Given the description of an element on the screen output the (x, y) to click on. 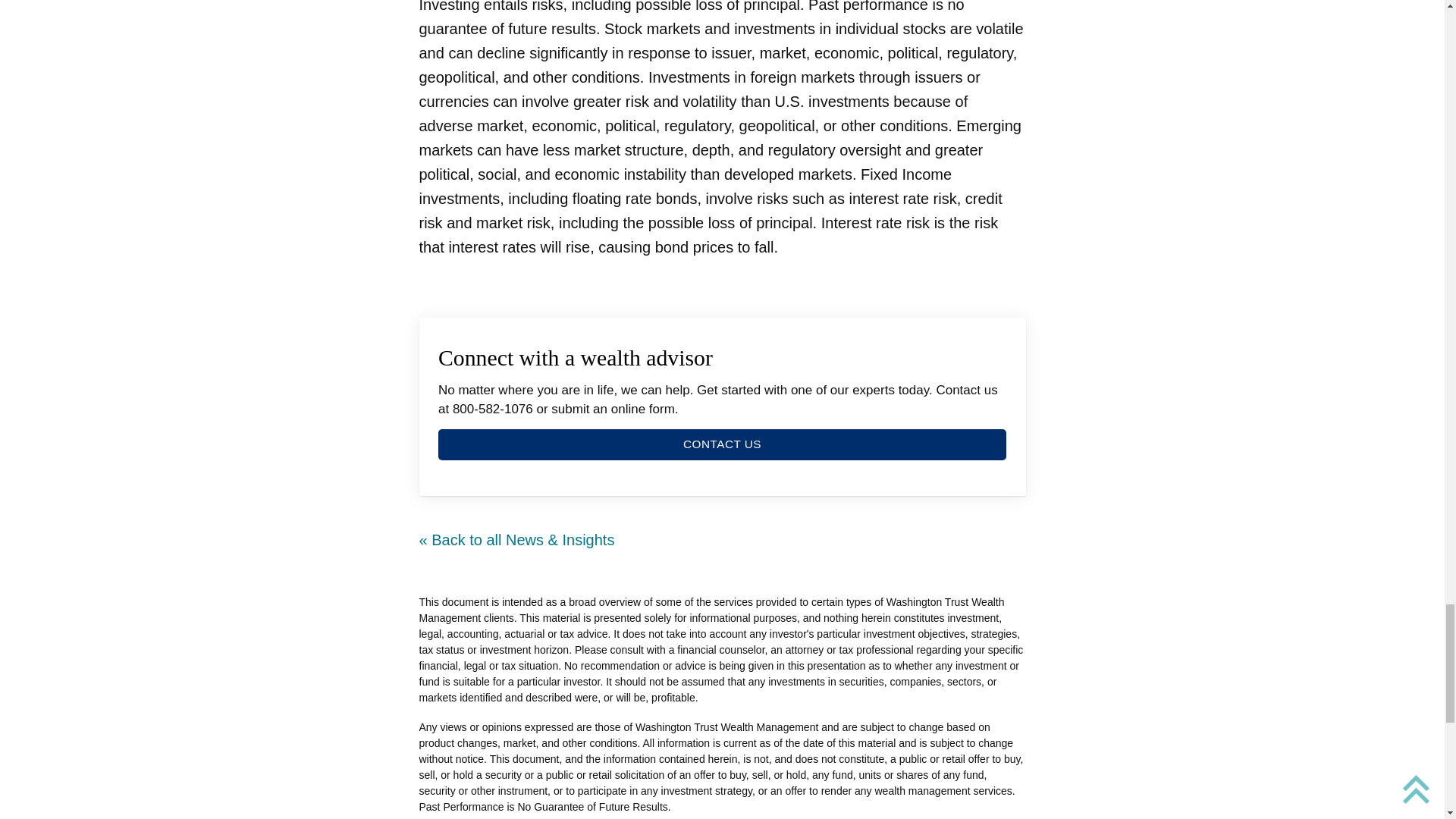
CONTACT US (722, 444)
